Given the description of an element on the screen output the (x, y) to click on. 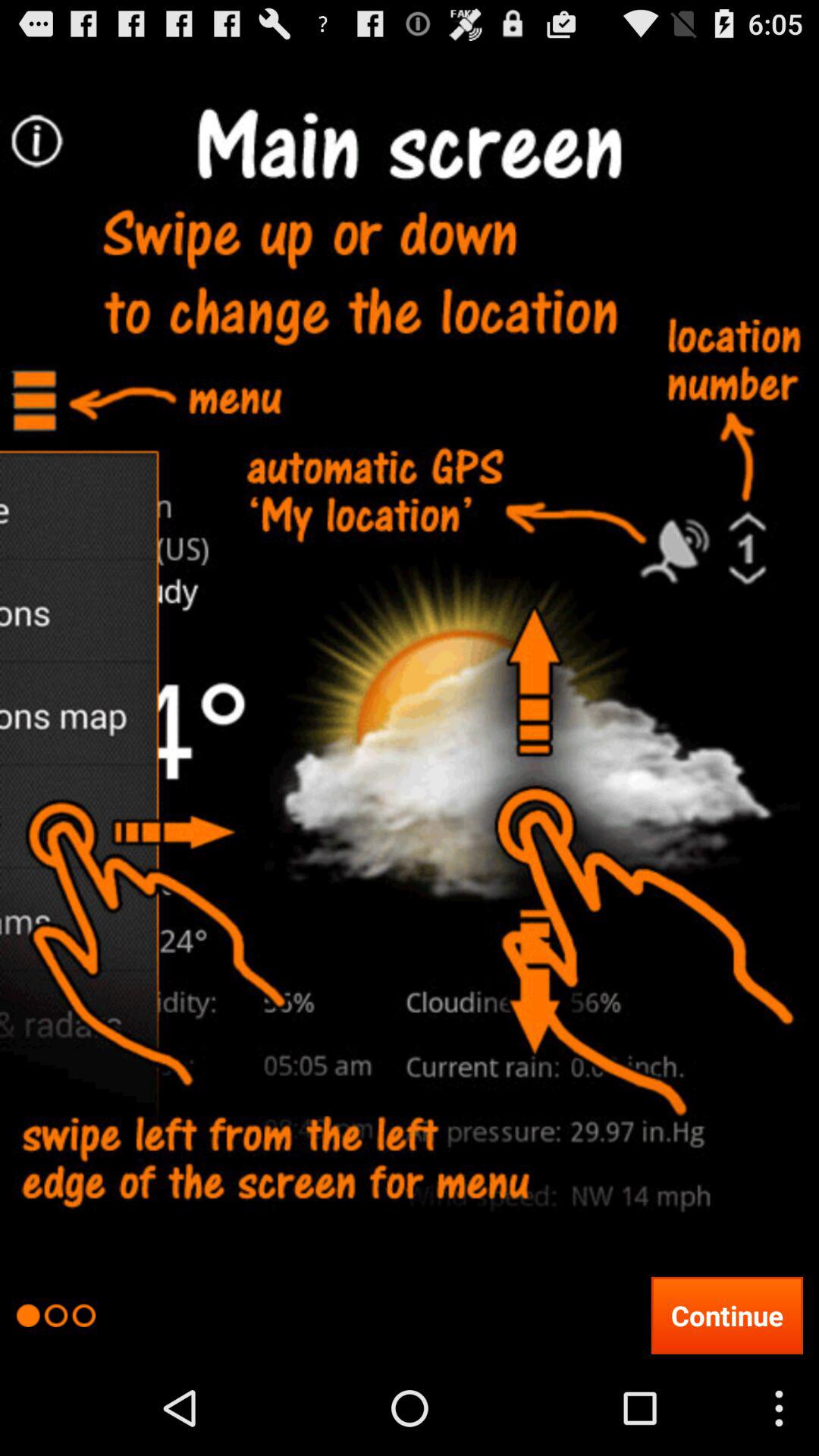
click the continue at the bottom right corner (727, 1315)
